Given the description of an element on the screen output the (x, y) to click on. 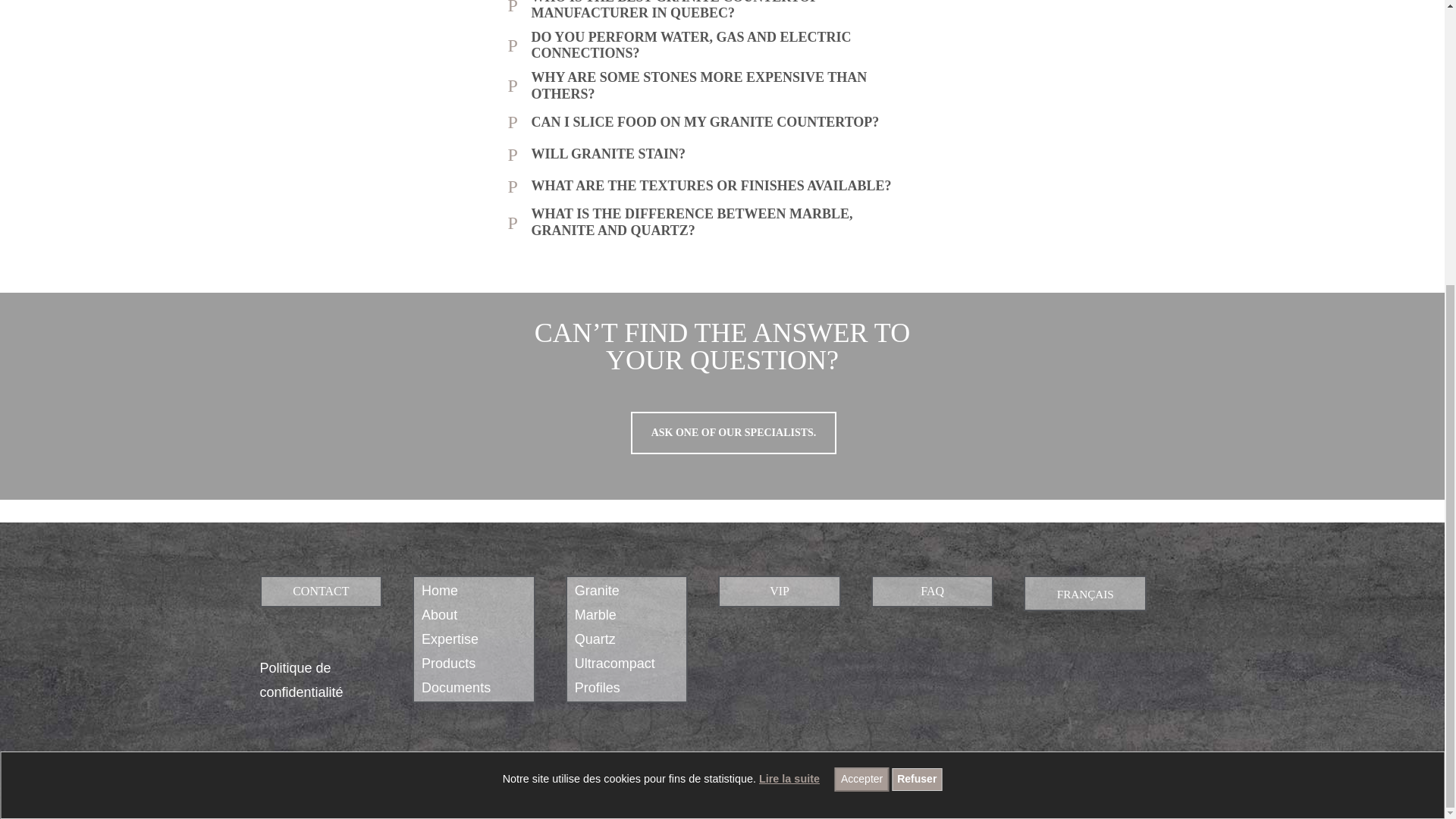
Granite (597, 590)
Home (440, 590)
Documents (456, 687)
Espace VIP (779, 591)
CONTACT (320, 591)
Contact (733, 432)
Expertise (450, 639)
Products (449, 663)
ASK ONE OF OUR SPECIALISTS. (733, 432)
FAQ (932, 591)
Contact (320, 591)
About (439, 614)
